Given the description of an element on the screen output the (x, y) to click on. 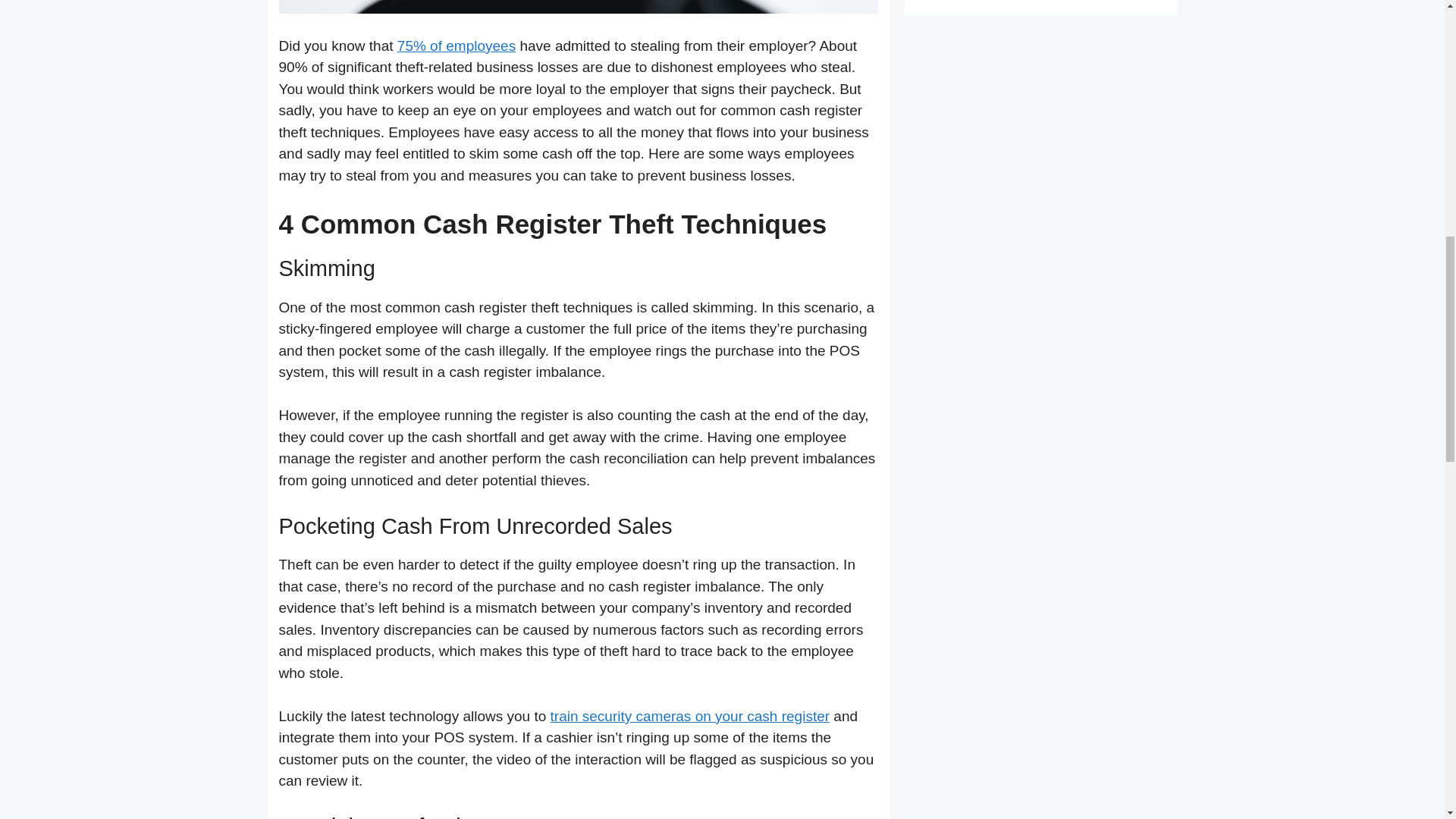
Scroll back to top (1406, 720)
train security cameras on your cash register (689, 715)
